Given the description of an element on the screen output the (x, y) to click on. 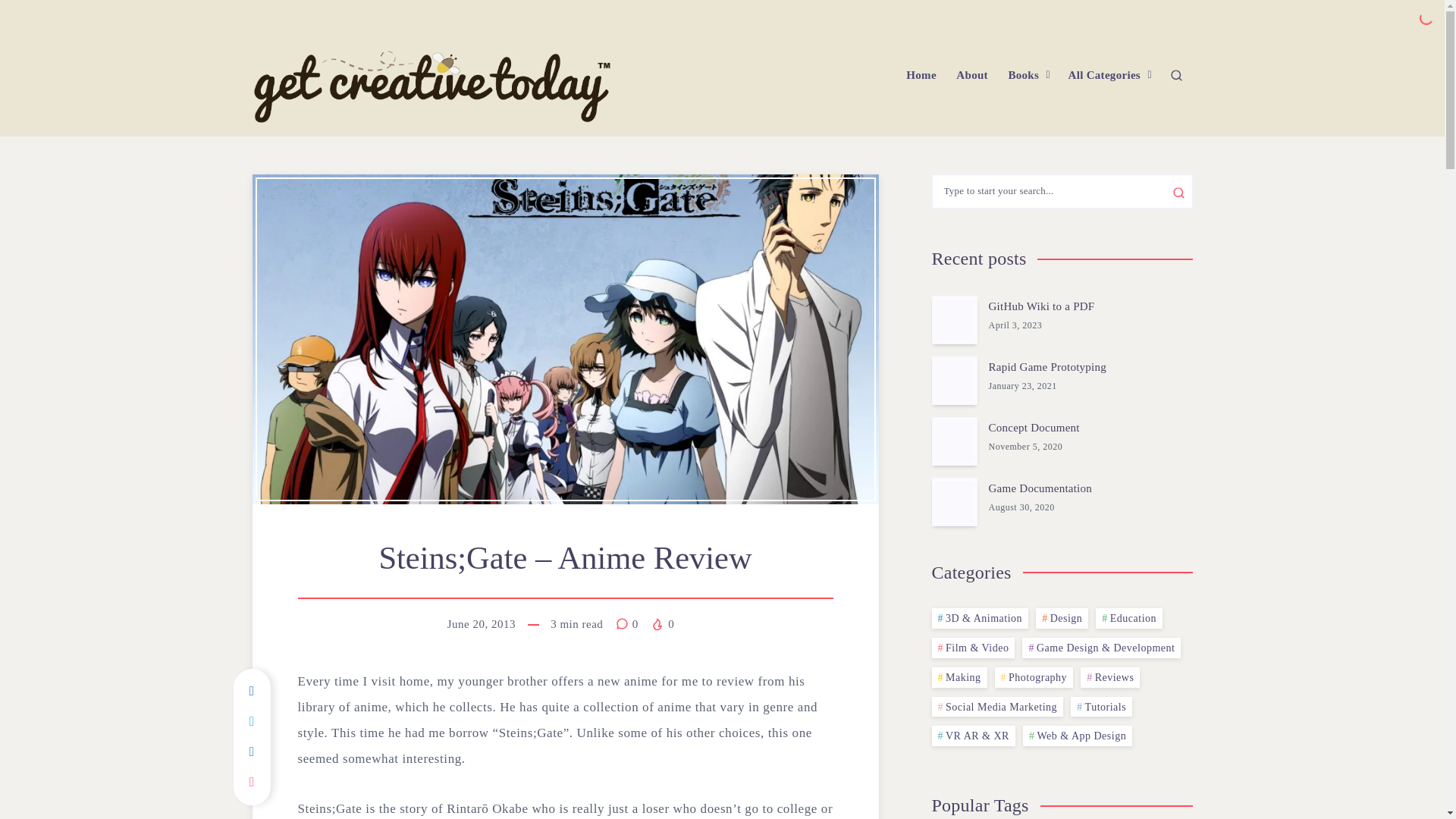
About (972, 74)
0 Comments (628, 623)
Home (920, 74)
0 Views (662, 623)
All Categories (1104, 74)
Books (1023, 74)
